Given the description of an element on the screen output the (x, y) to click on. 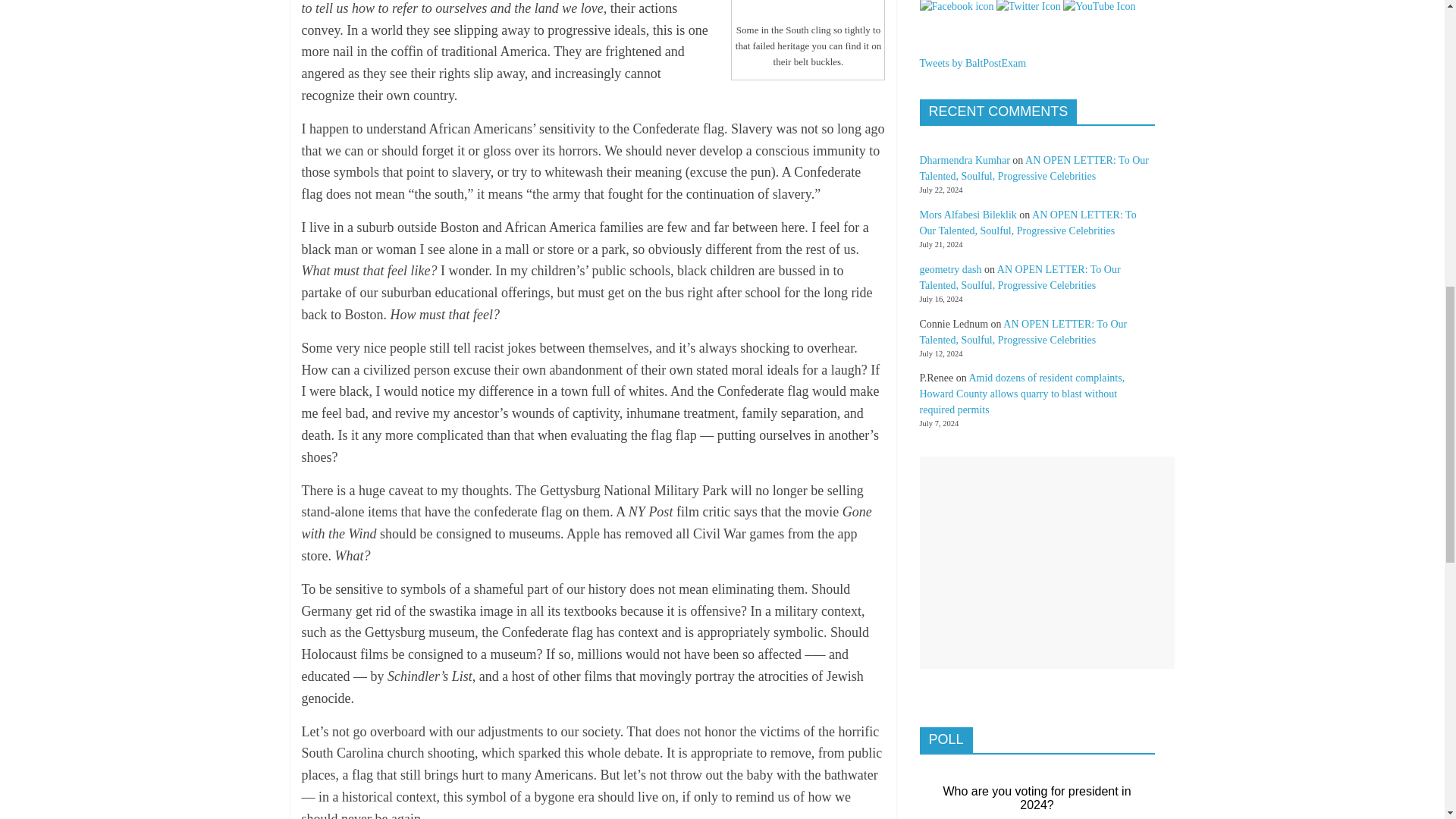
Dharmendra Kumhar (963, 160)
Tweets by BaltPostExam (972, 62)
